Given the description of an element on the screen output the (x, y) to click on. 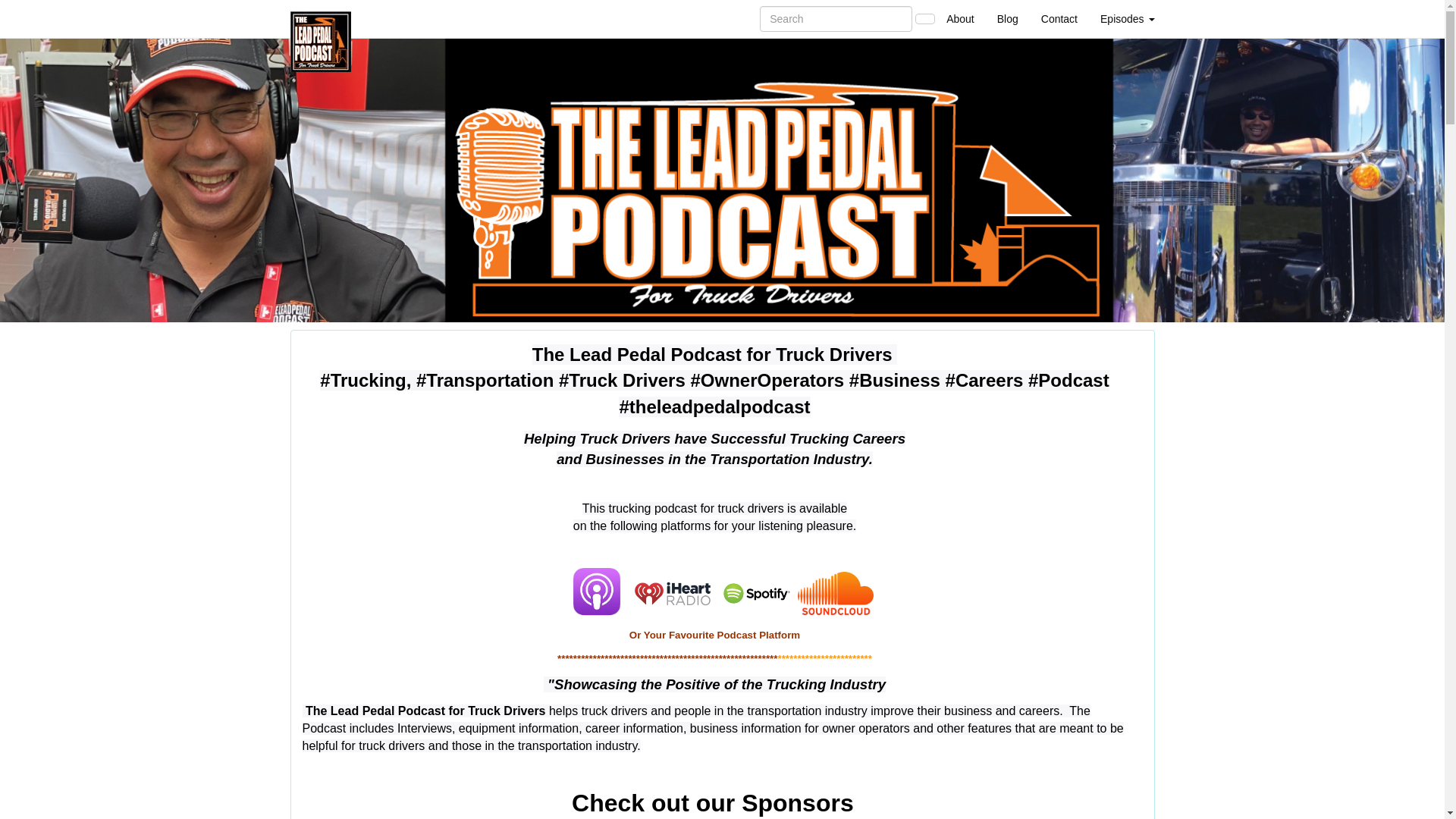
About (959, 18)
Spotify (756, 592)
Check us out on Soundcloud (835, 592)
Blog (1007, 18)
Episodes (1127, 18)
Contact (1059, 18)
Home Page (320, 18)
Listen to us on iheart radio (672, 592)
Listen to The Lead Pedal Podcast on iTunes (596, 592)
